Given the description of an element on the screen output the (x, y) to click on. 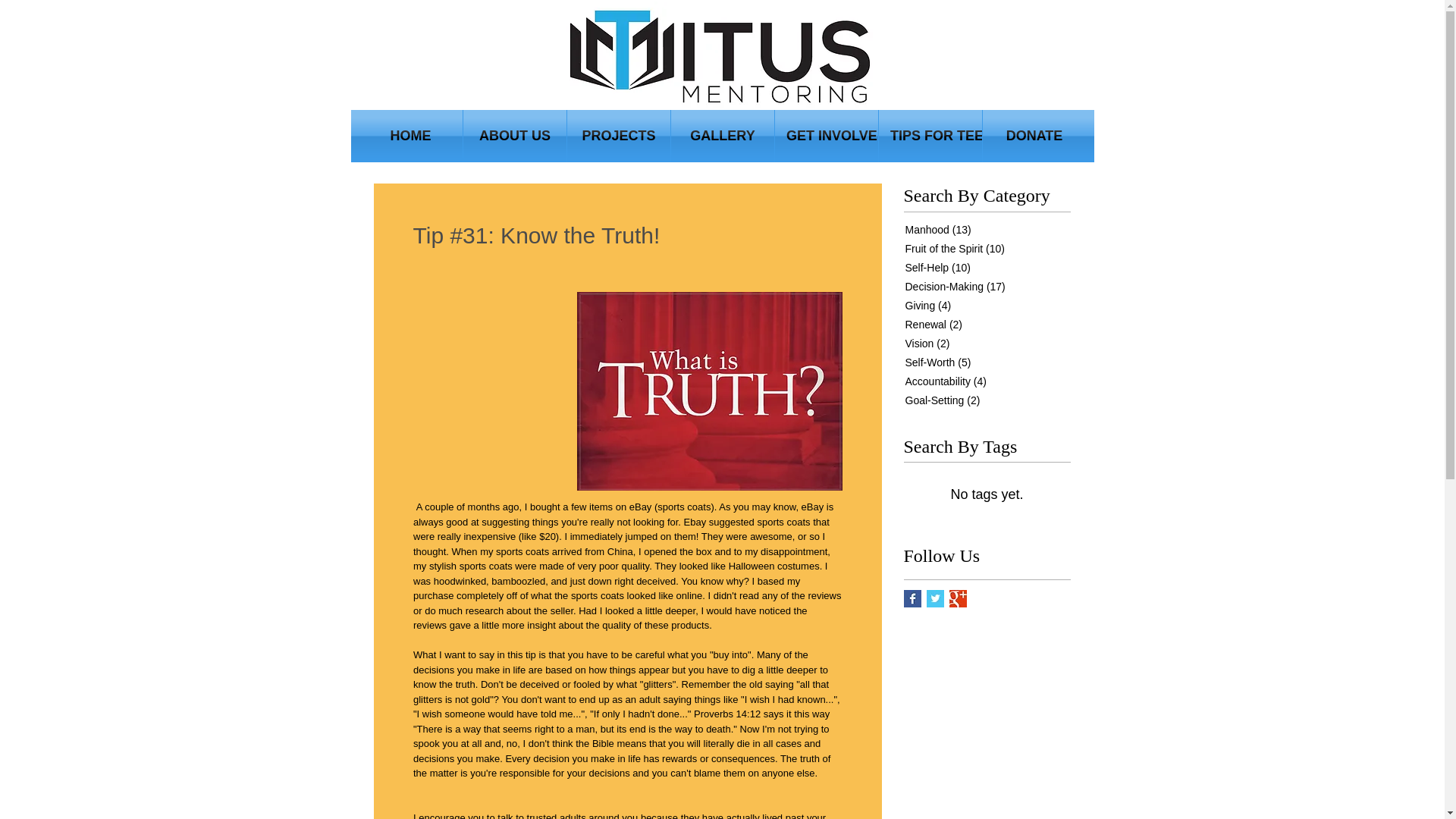
HOME (410, 135)
PROJECTS (618, 135)
ABOUT US (514, 135)
GALLERY (722, 135)
GET INVOLVED (825, 135)
DONATE (1034, 135)
TIPS FOR TEENS (930, 135)
